Given the description of an element on the screen output the (x, y) to click on. 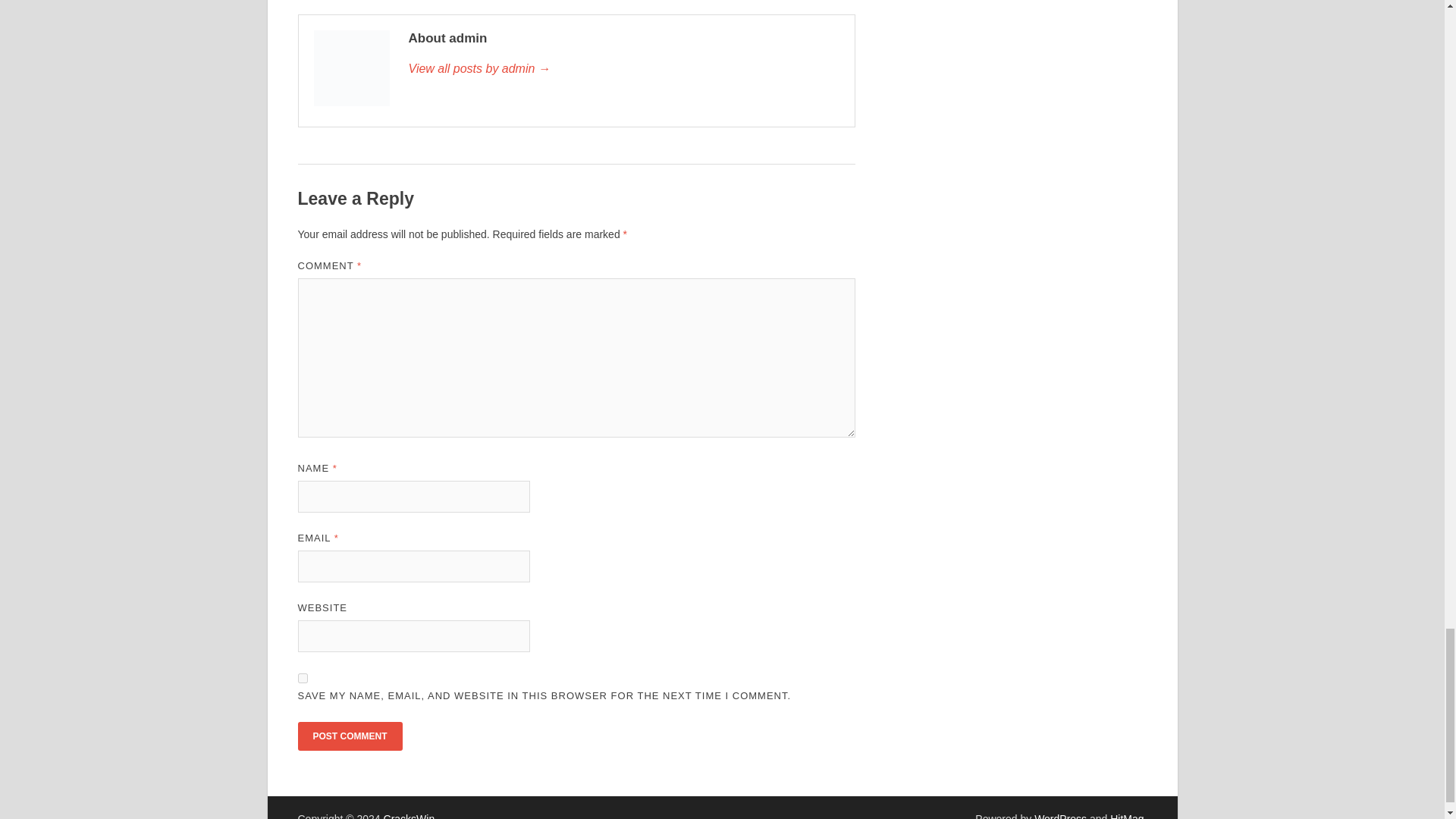
Post Comment (349, 736)
yes (302, 678)
admin (622, 68)
